Given the description of an element on the screen output the (x, y) to click on. 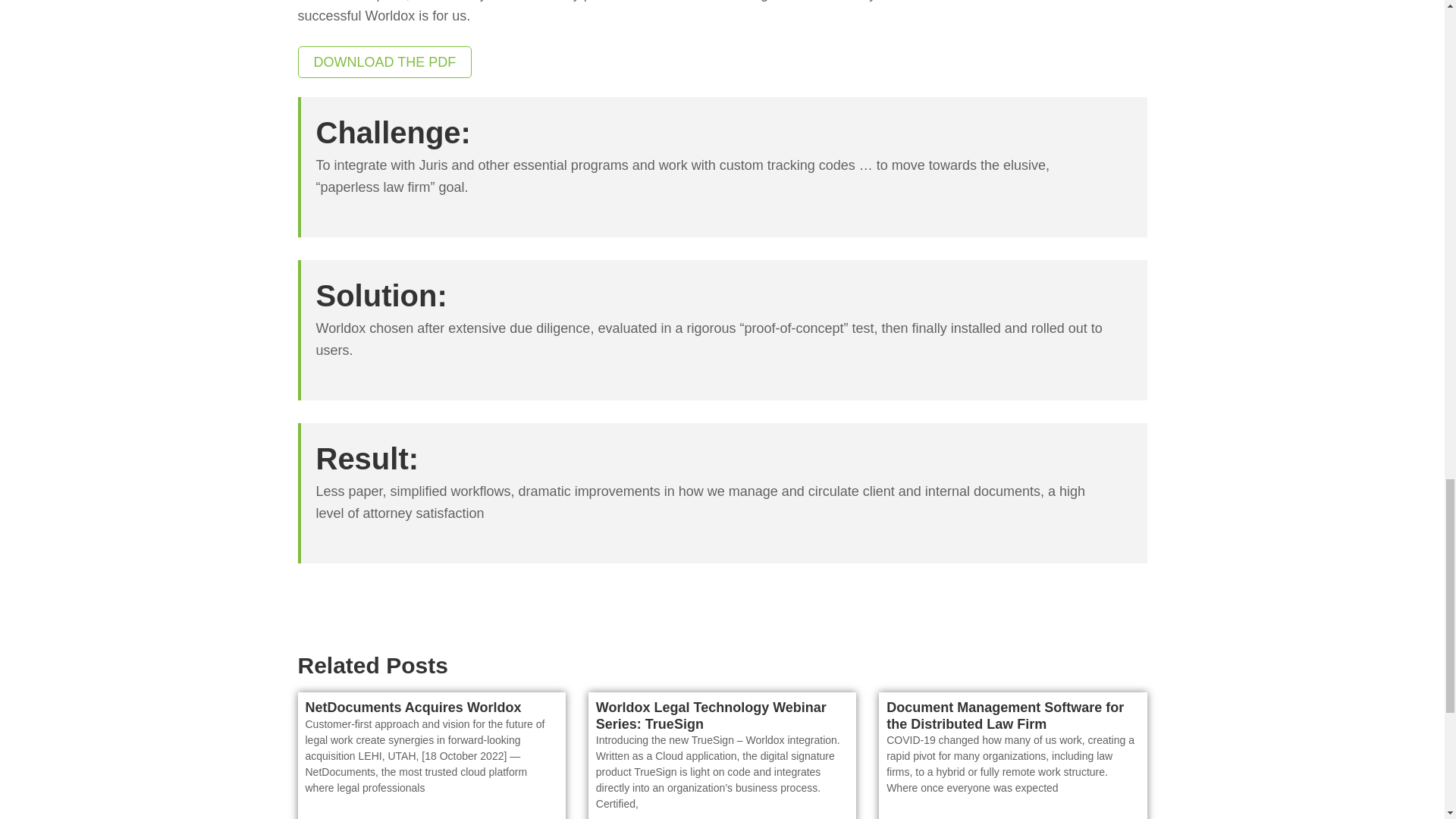
Document Management Software for the Distributed Law Firm (1005, 716)
Worldox Legal Technology Webinar Series: TrueSign (711, 716)
DOWNLOAD THE PDF (384, 61)
NetDocuments Acquires Worldox (412, 707)
